Given the description of an element on the screen output the (x, y) to click on. 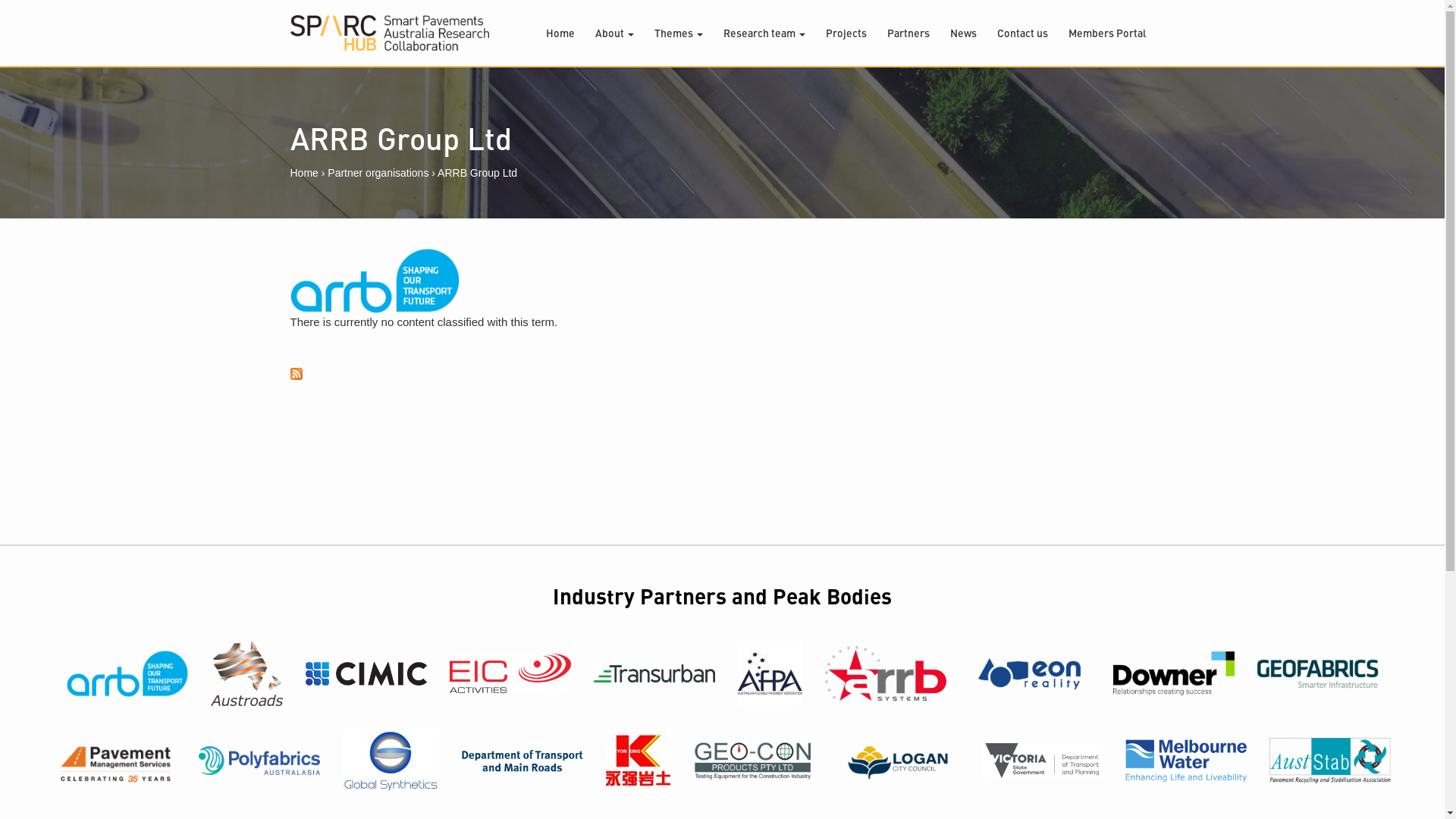
Research team Element type: text (764, 32)
ARRB Systems Element type: hover (885, 673)
Subscribe to RSS - ARRB Group Ltd Element type: hover (721, 373)
Logan City Council Element type: hover (897, 760)
Fujian Yonking Geotechnical CO. LTD Element type: hover (637, 760)
Australian Flexible Pavement Association Element type: hover (769, 673)
About Element type: text (613, 32)
AustStab Ltd Element type: hover (1329, 760)
Members Portal Element type: text (1106, 32)
Austroads Ltd Element type: hover (246, 673)
Home Element type: hover (389, 32)
Themes Element type: text (677, 32)
Global Synthetics Pty Ltd Element type: hover (390, 760)
Contact us Element type: text (1021, 32)
Skip to main content Element type: text (48, 0)
Geo-Con Products Pty Ltd Element type: hover (753, 760)
Home Element type: text (303, 172)
Department of Transport and Planning Element type: hover (1041, 760)
EON Reality Inc Element type: hover (1029, 673)
Home Element type: text (559, 32)
Department Of Transport and Main Roads Element type: hover (521, 760)
Transurban Limited Element type: hover (653, 673)
Projects Element type: text (845, 32)
ARRB Group Ltd Element type: hover (127, 673)
Geofabrics Australasia Pty Ltd Element type: hover (1317, 673)
Partners Element type: text (908, 32)
EIC Activities Element type: hover (509, 673)
CIMIC Group Ltd Element type: hover (365, 673)
Pavement Management Services Pty Ltd Element type: hover (114, 760)
News Element type: text (962, 32)
Downer EDI Works Ltd Element type: hover (1173, 673)
Polyfabrics Australasia Pty Ltd Element type: hover (259, 760)
Melbourne Water Element type: hover (1185, 760)
